Given the description of an element on the screen output the (x, y) to click on. 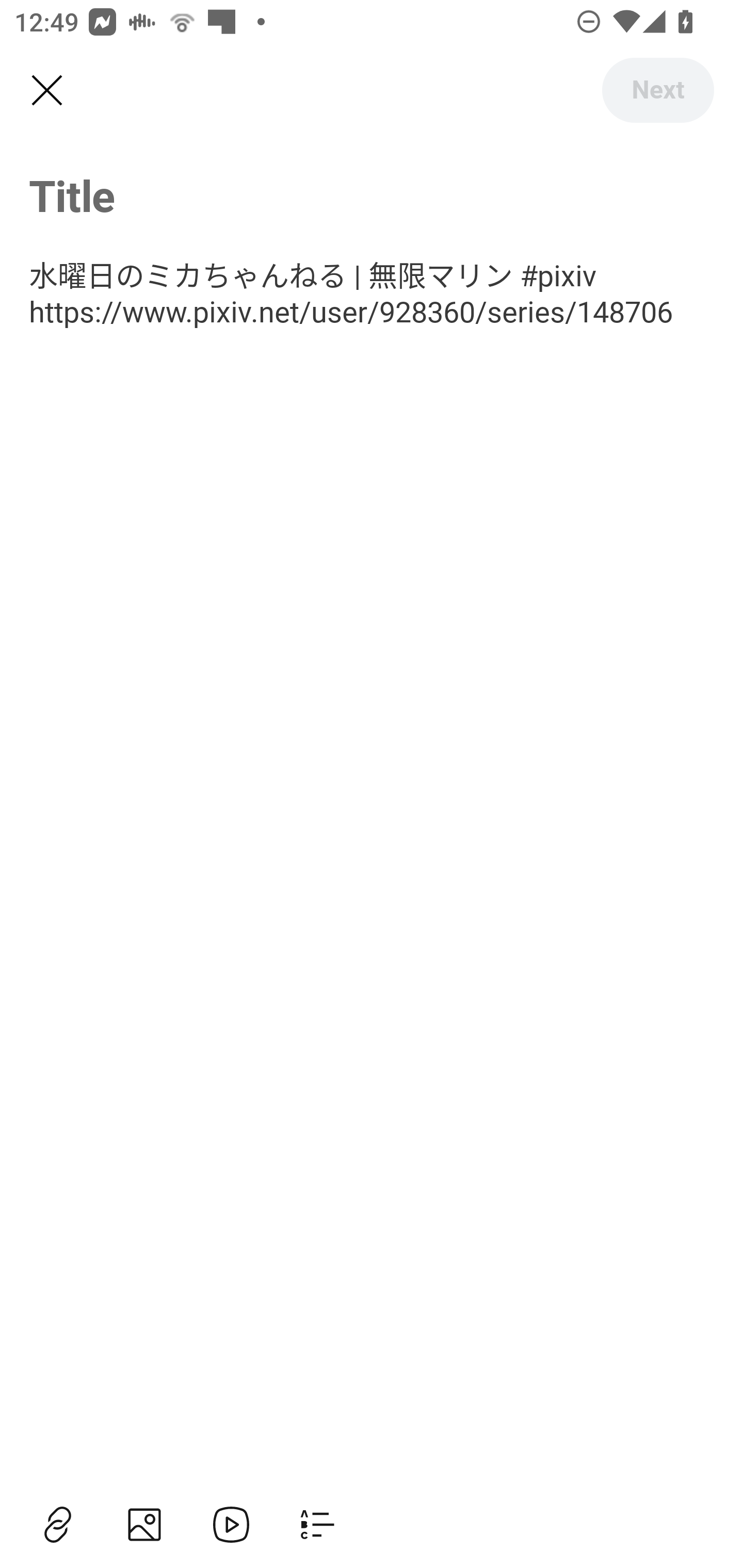
Close (46, 90)
Next (657, 90)
Post title (371, 195)
